Given the description of an element on the screen output the (x, y) to click on. 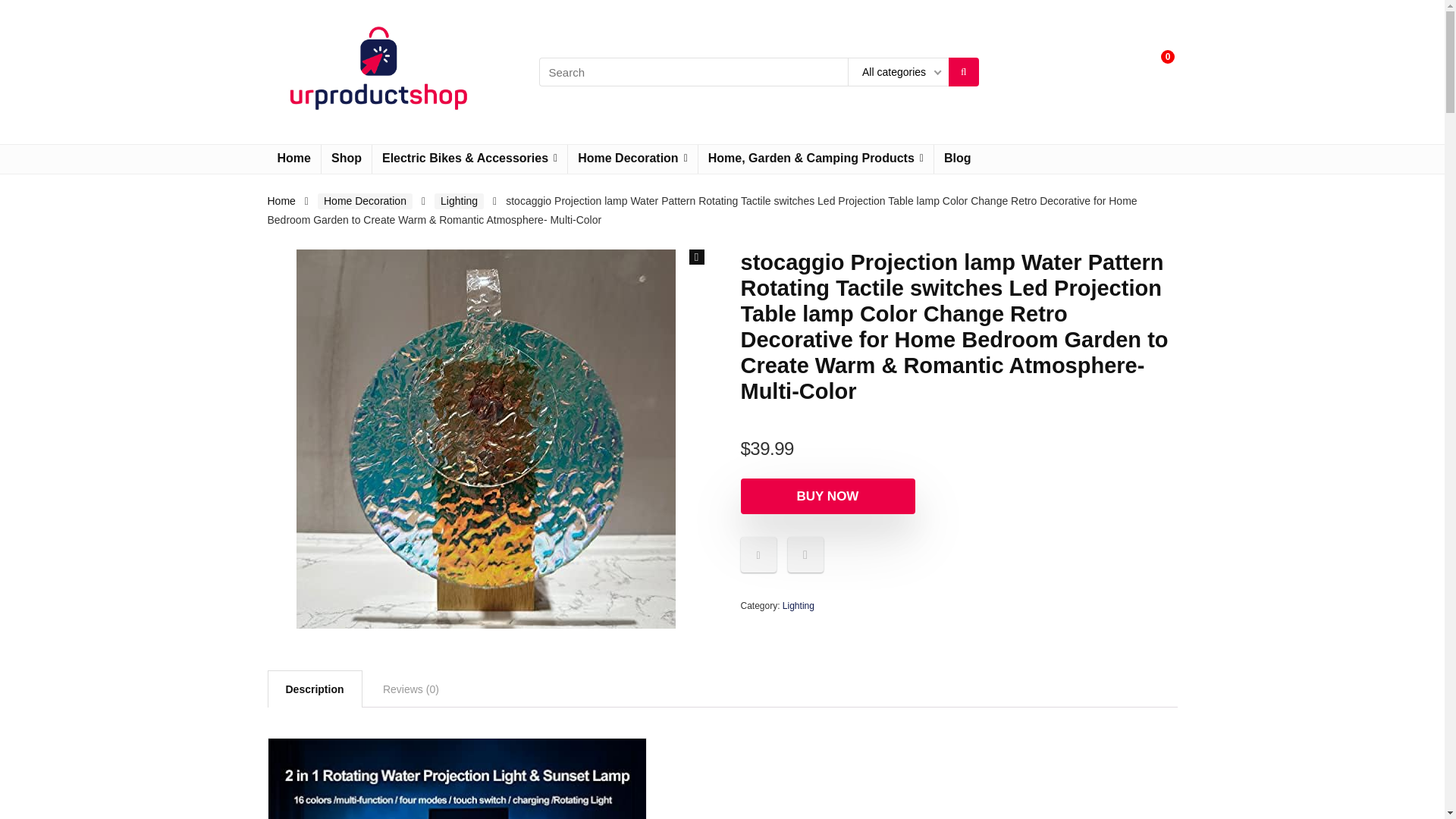
Home (293, 158)
Home Decoration (632, 158)
Blog (957, 158)
Shop (346, 158)
